Given the description of an element on the screen output the (x, y) to click on. 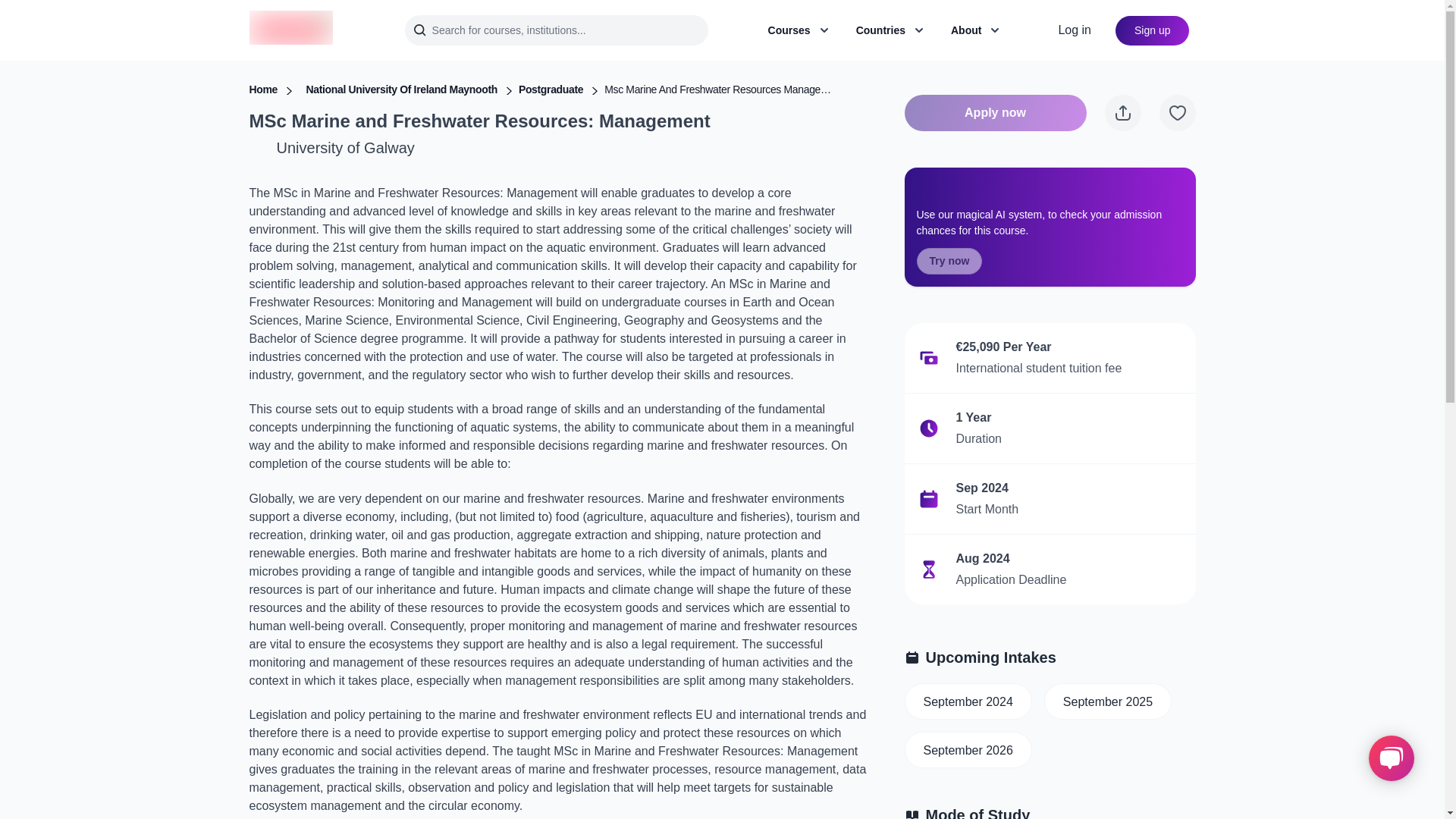
National University Of Ireland Maynooth (401, 89)
Msc Marine And Freshwater Resources Management (717, 89)
Log in (1074, 30)
Apply now (995, 113)
Home (263, 89)
Postgraduate (550, 89)
Home (263, 89)
University of Galway (344, 147)
Try now (948, 261)
Msc Marine And Freshwater Resources Management (717, 89)
